Given the description of an element on the screen output the (x, y) to click on. 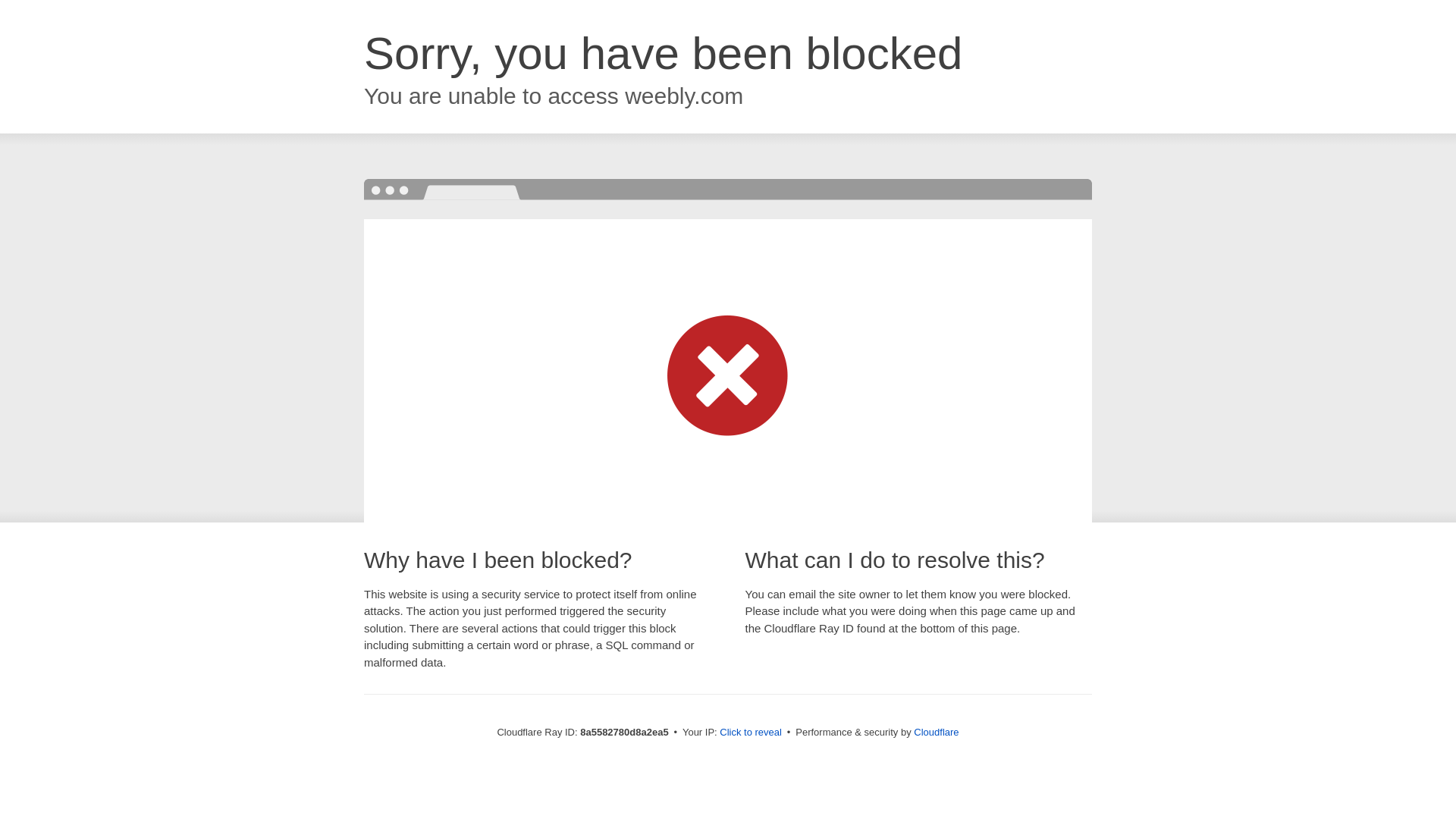
Click to reveal (750, 732)
Cloudflare (936, 731)
